Given the description of an element on the screen output the (x, y) to click on. 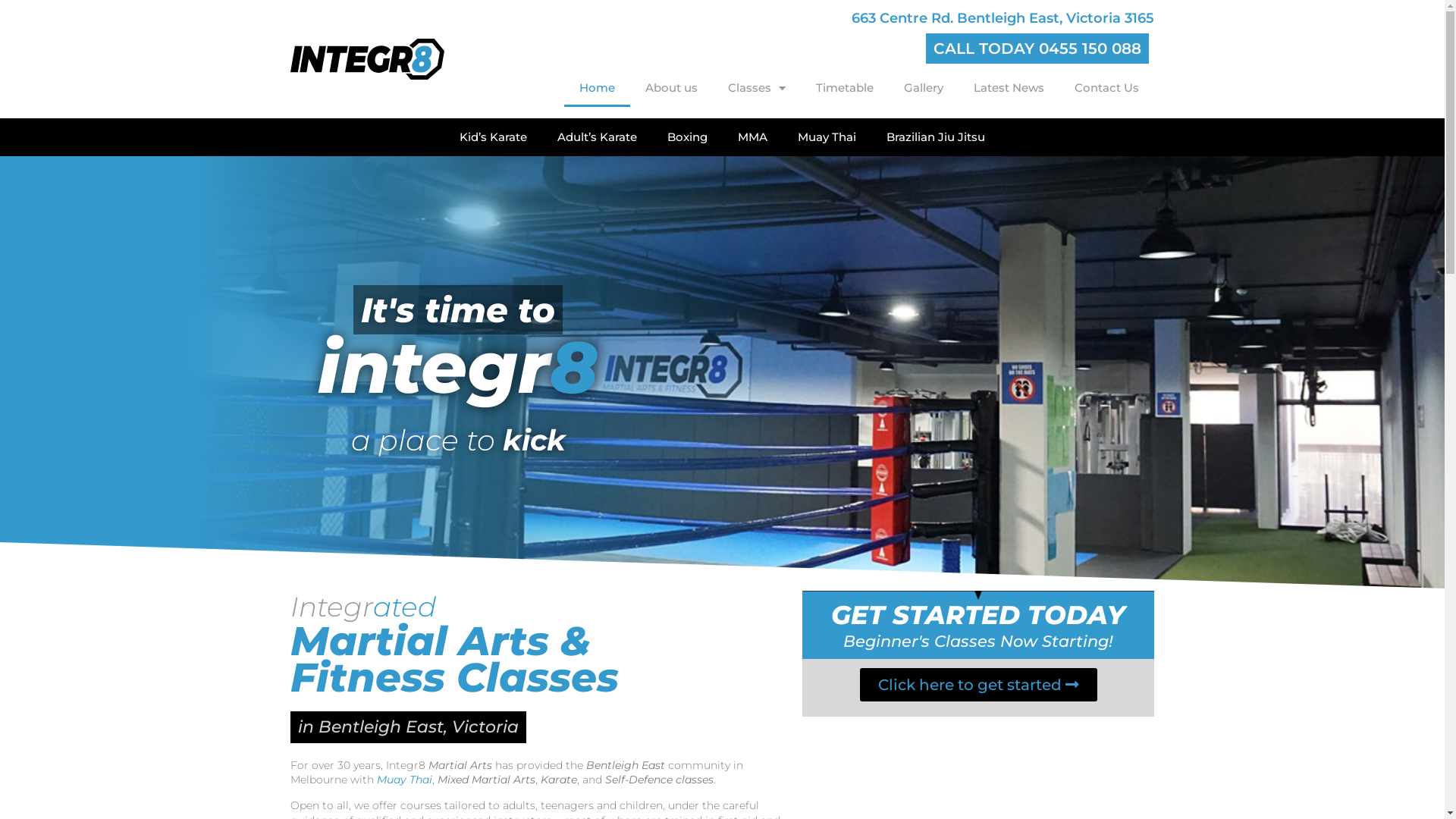
Muay Thai Element type: text (826, 137)
Contact Us Element type: text (1106, 87)
Home Element type: text (597, 87)
Timetable Element type: text (844, 87)
MMA Element type: text (752, 137)
Muay Thai Element type: text (403, 779)
About us Element type: text (671, 87)
CALL TODAY 0455 150 088 Element type: text (1037, 48)
Gallery Element type: text (923, 87)
Latest News Element type: text (1008, 87)
Boxing Element type: text (687, 137)
Classes Element type: text (756, 87)
Click here to get started Element type: text (978, 684)
Brazilian Jiu Jitsu Element type: text (935, 137)
